Given the description of an element on the screen output the (x, y) to click on. 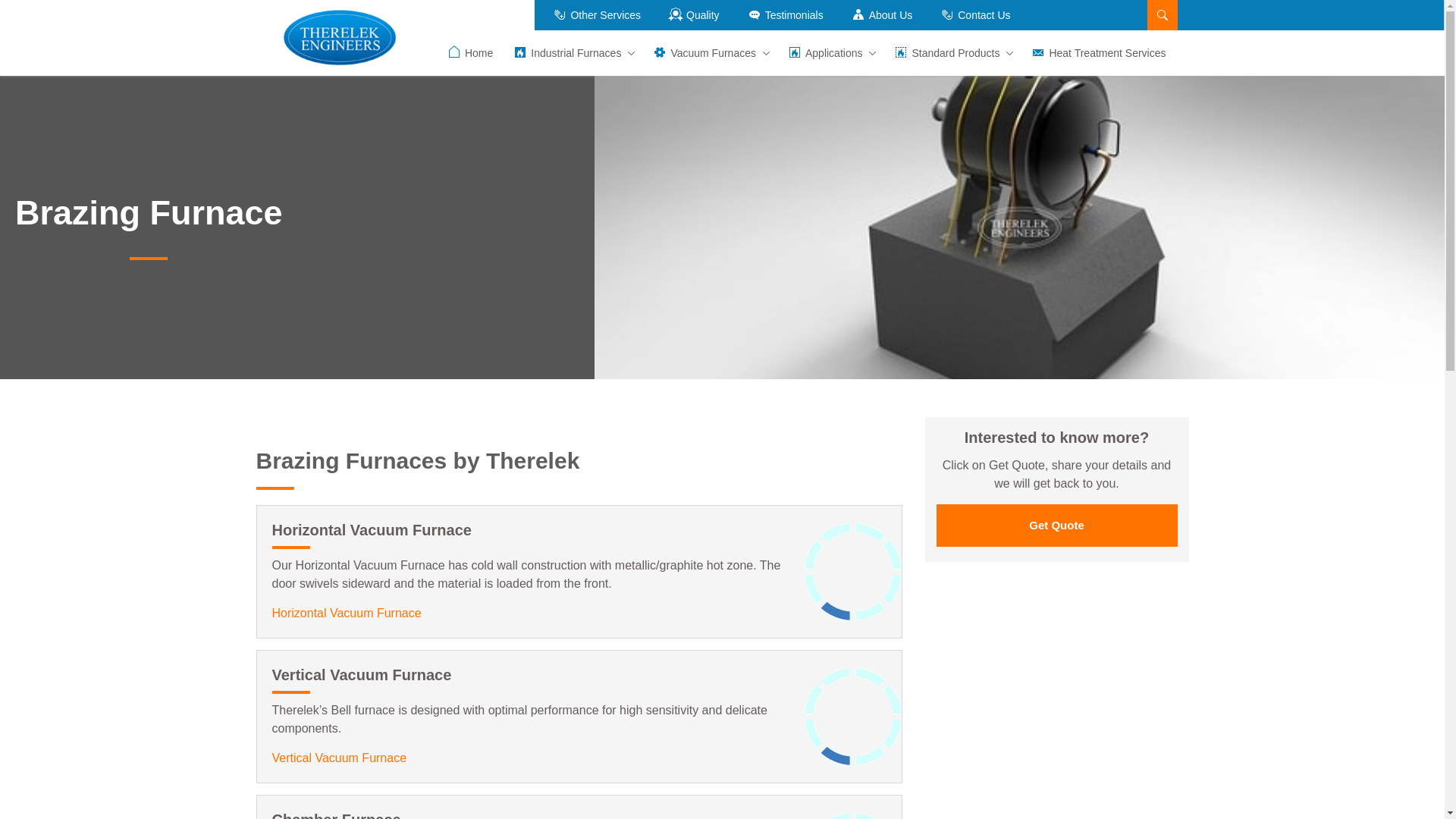
Other Services (596, 15)
Industrial Furnaces (571, 53)
Standard Products (952, 53)
About Us (881, 15)
Quality (693, 15)
Vacuum Furnaces (709, 53)
Applications (830, 53)
Heat Treatment Services (1097, 53)
Contact Us (974, 15)
Home (469, 53)
